Given the description of an element on the screen output the (x, y) to click on. 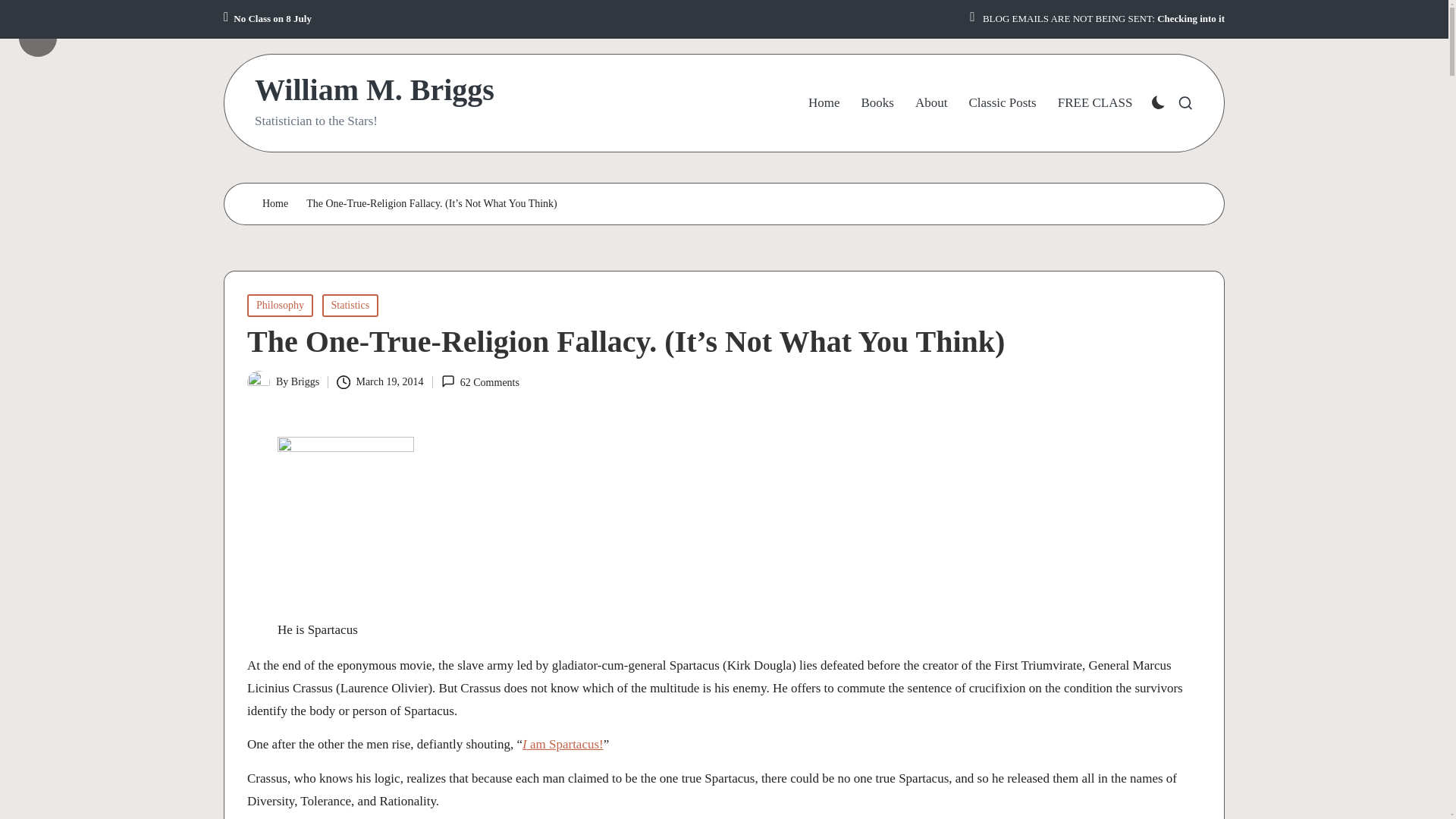
Briggs (304, 381)
About (931, 103)
Home (275, 203)
Books (876, 103)
Home (824, 103)
FREE CLASS (1095, 103)
Philosophy (280, 305)
I am Spartacus! (563, 744)
62 Comments (480, 381)
Checking into it (1190, 18)
View all posts by Briggs (304, 381)
William M. Briggs (374, 90)
Statistics (349, 305)
The post author (56, 25)
Classic Posts (1001, 103)
